Given the description of an element on the screen output the (x, y) to click on. 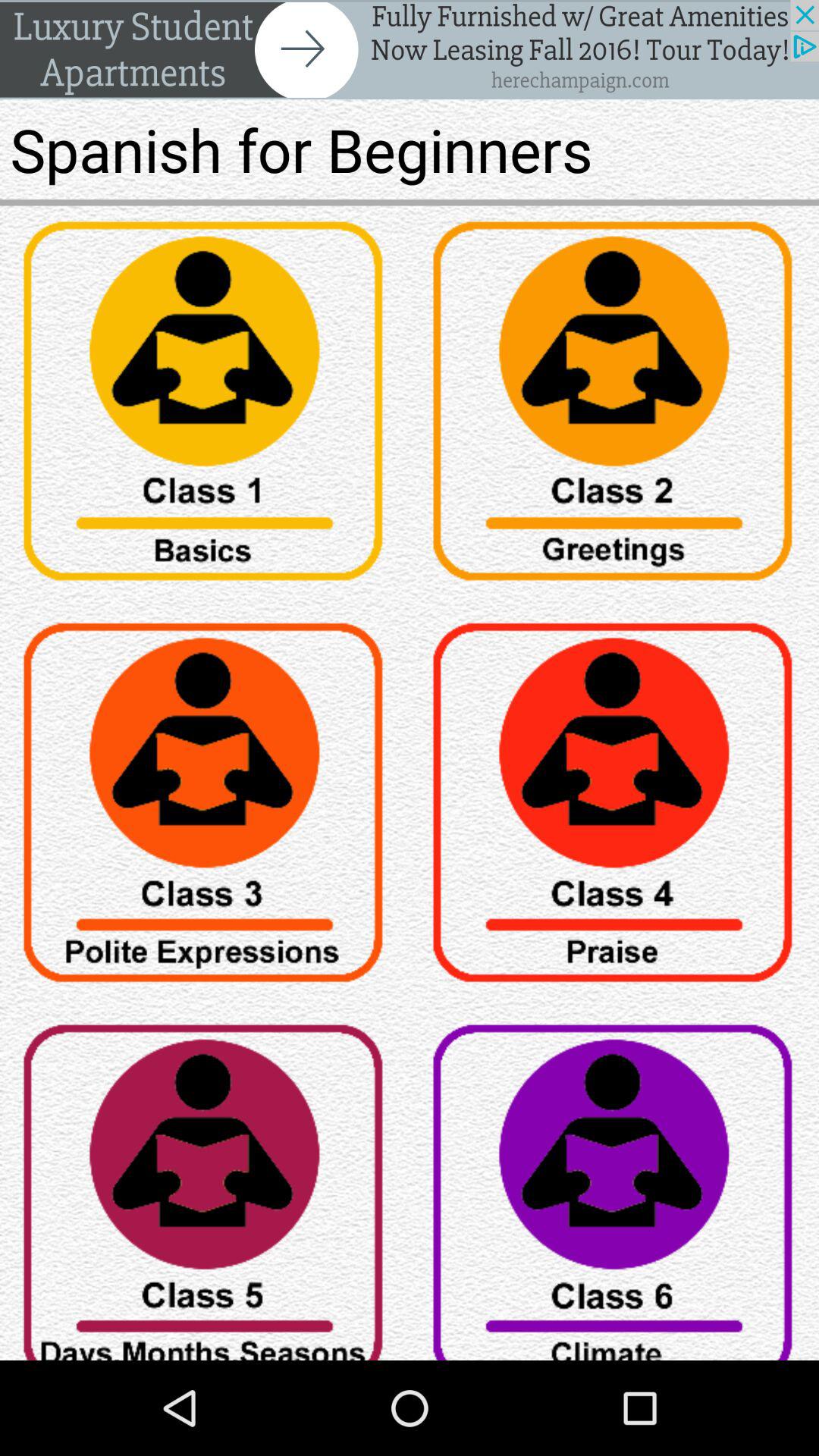
tag (614, 406)
